Given the description of an element on the screen output the (x, y) to click on. 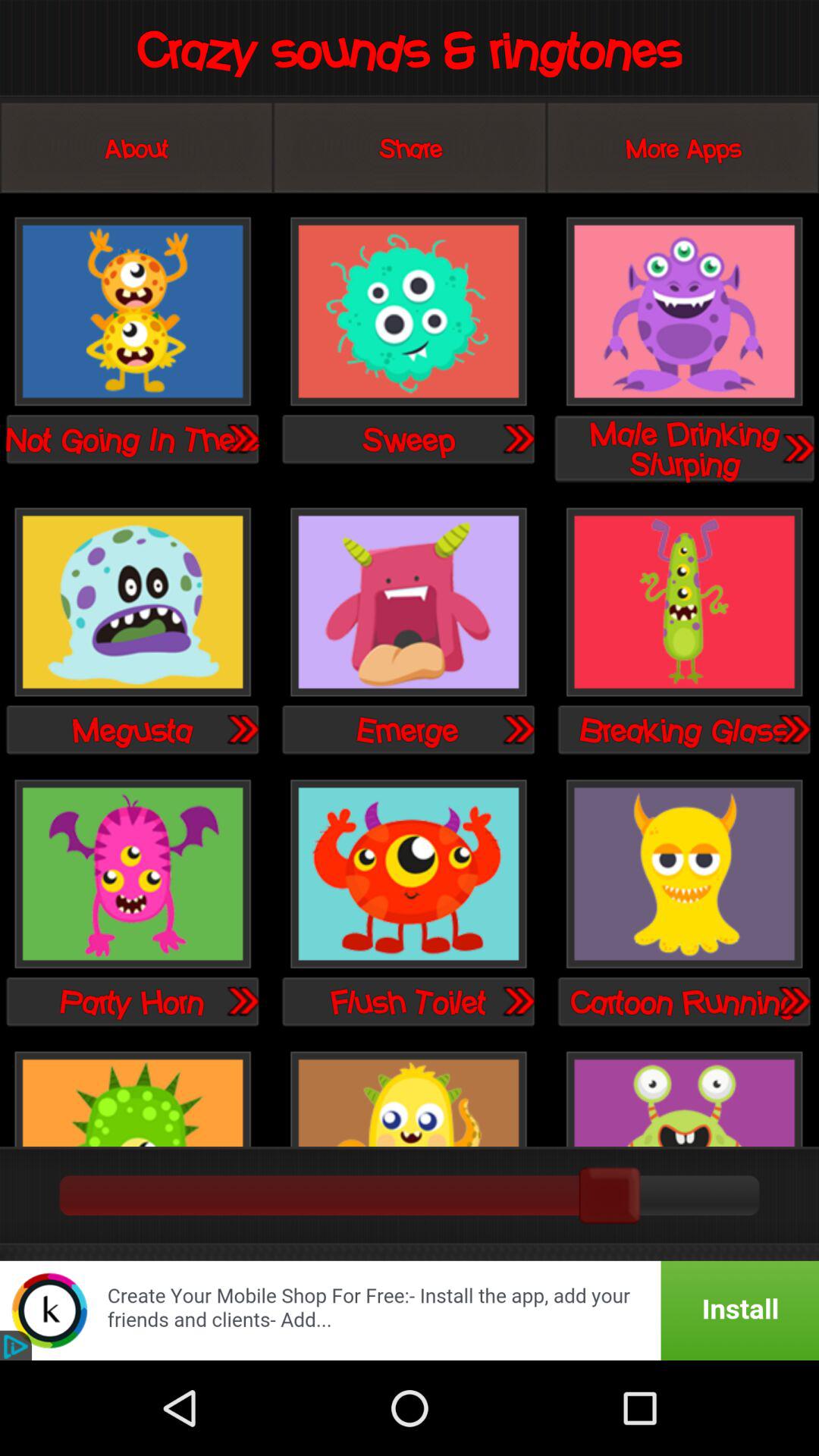
play this sound (132, 602)
